Given the description of an element on the screen output the (x, y) to click on. 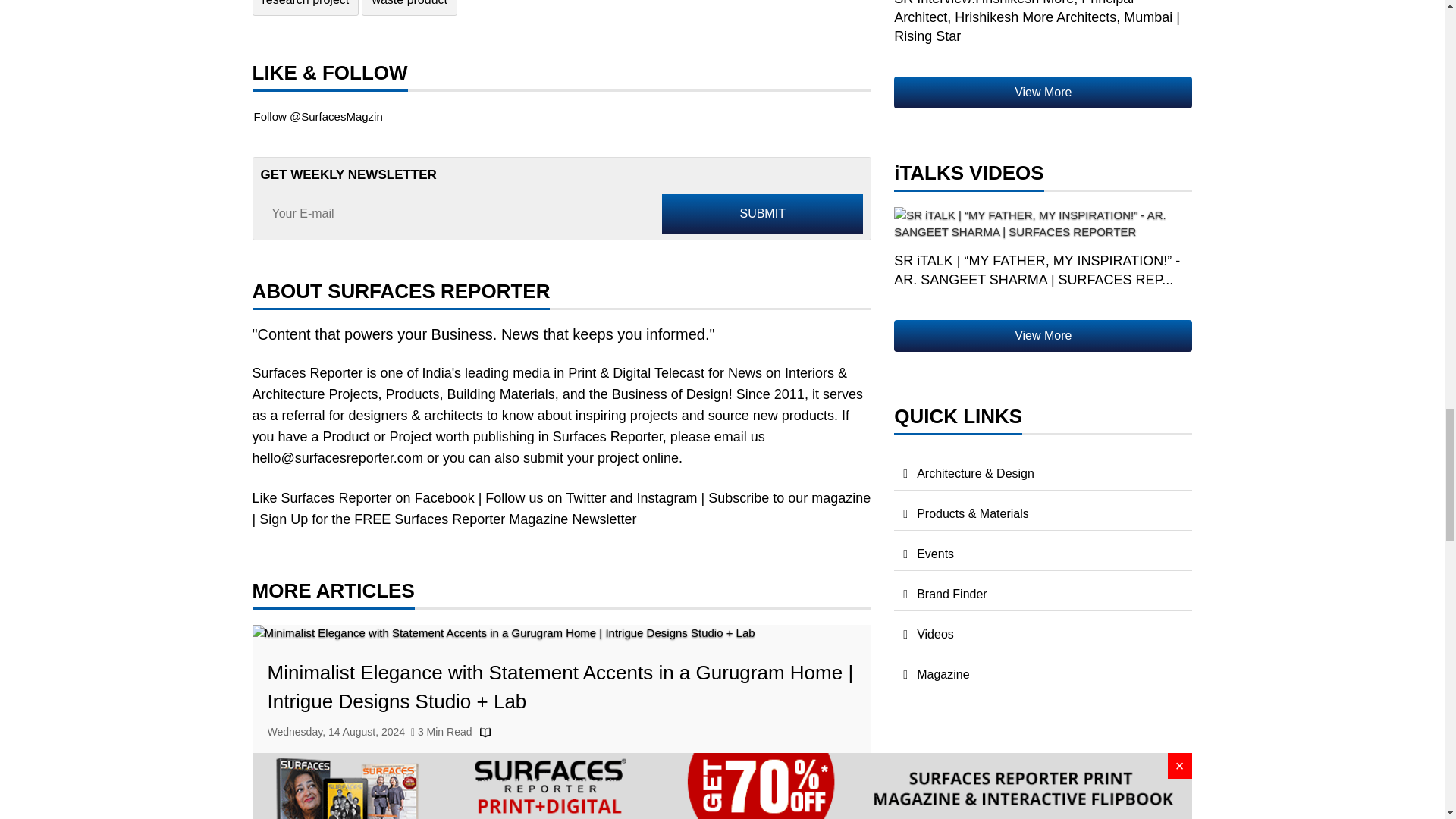
Submit (762, 213)
